Given the description of an element on the screen output the (x, y) to click on. 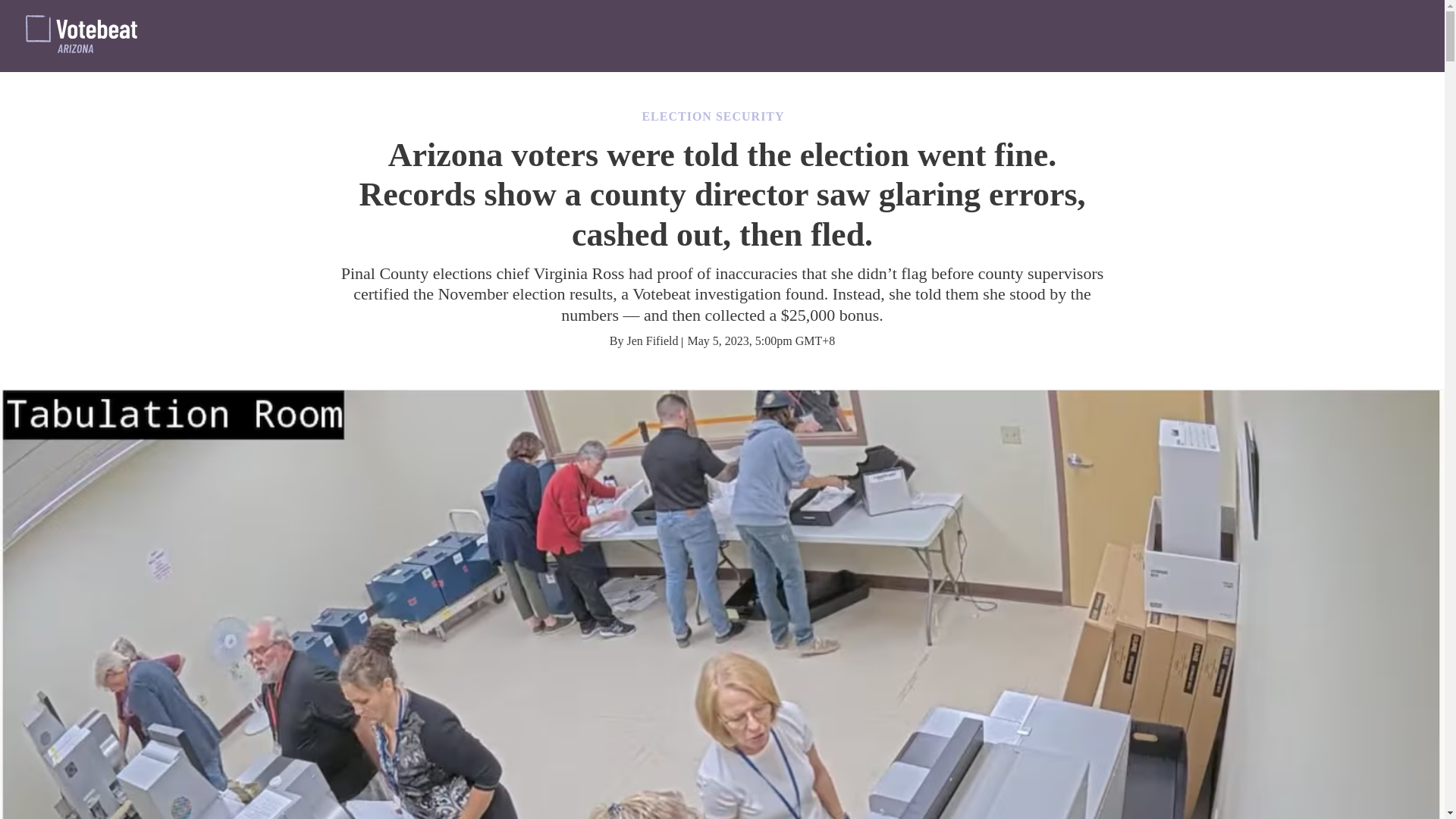
ELECTION SECURITY (713, 115)
Jen Fifield (652, 340)
